Given the description of an element on the screen output the (x, y) to click on. 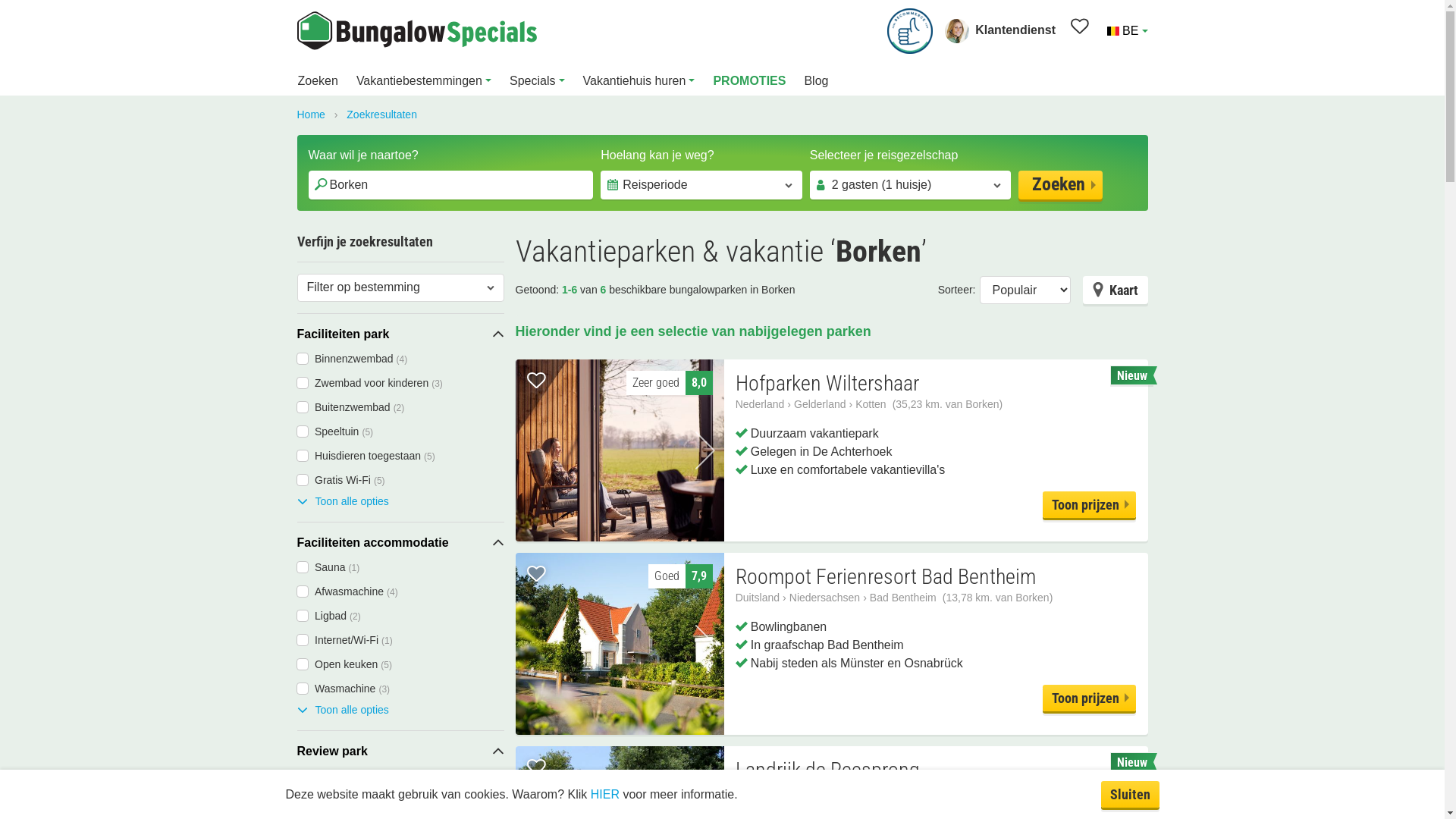
Toon alle opties Element type: text (343, 501)
Roompot Ferienresort Bad Bentheim Element type: text (885, 576)
Next Element type: text (619, 643)
Toon prijzen Element type: text (1088, 697)
Vakantiehuis huren Element type: text (639, 81)
Kaart Element type: text (1115, 290)
Veilig online winkelen met BeCommerce! Element type: hover (909, 30)
BE Element type: text (1126, 30)
Zoeken Element type: text (317, 81)
Specials Element type: text (537, 81)
Sluiten Element type: text (1130, 794)
Zoekresultaten Element type: text (381, 114)
Review park Element type: text (400, 751)
Toon prijzen Element type: text (1088, 504)
Hofparken Wiltershaar Element type: text (827, 383)
Toon alle opties Element type: text (343, 710)
Next Element type: text (705, 643)
Vakantiebestemmingen Element type: text (423, 81)
Faciliteiten accommodatie Element type: text (400, 542)
Filter op bestemming Element type: text (400, 287)
Faciliteiten park Element type: text (400, 334)
Reisperiode Element type: text (701, 184)
Landrijk de Reesprong Element type: text (827, 770)
Blog Element type: text (815, 81)
Next Element type: text (619, 450)
Next Element type: text (705, 450)
2 gasten (1 huisje) Element type: text (910, 184)
Home Element type: text (311, 114)
HIER Element type: text (604, 793)
PROMOTIES Element type: text (748, 81)
Klantendienst Element type: text (999, 29)
Zoeken Element type: text (1060, 185)
